Given the description of an element on the screen output the (x, y) to click on. 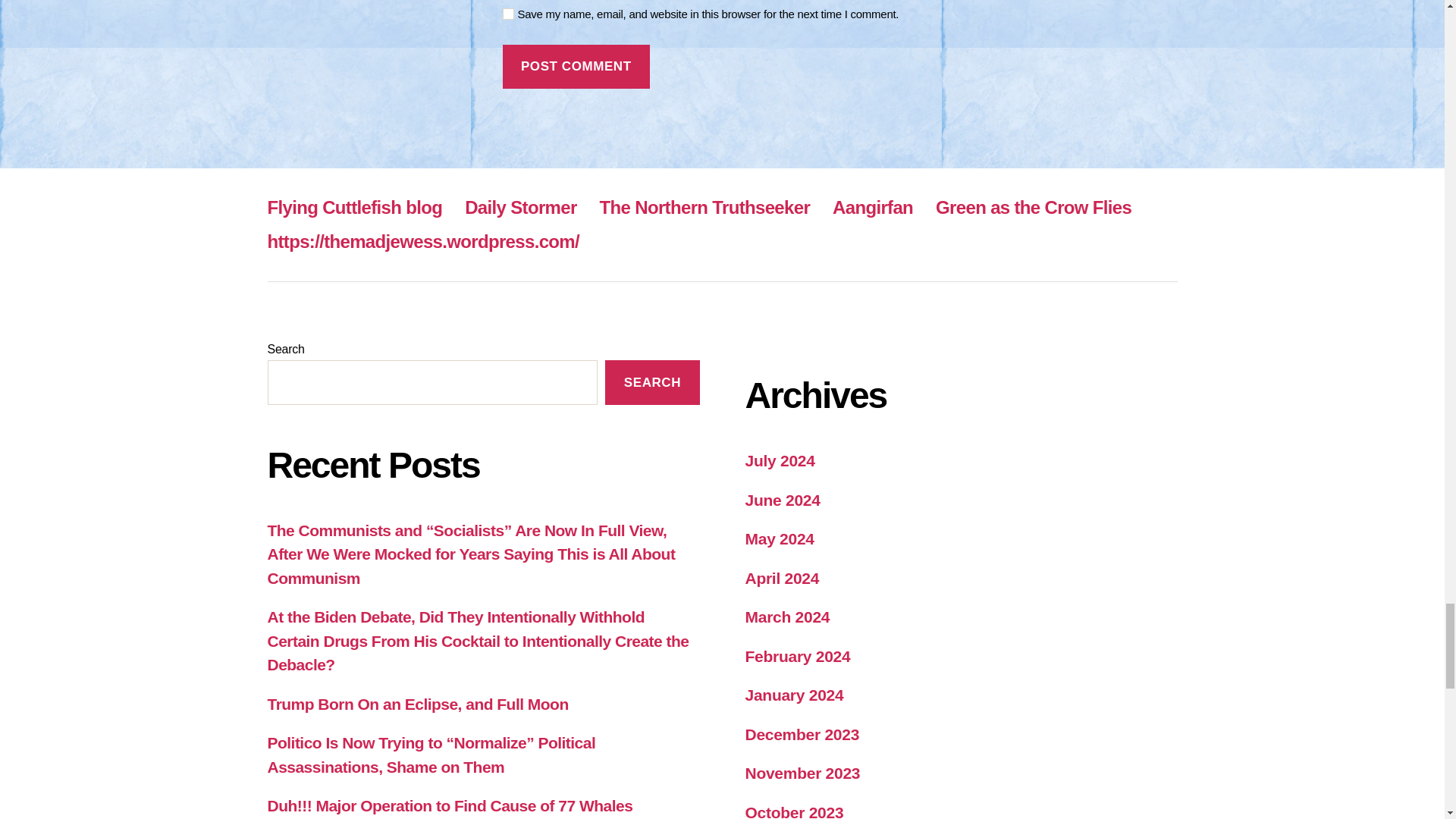
Flying Cuttlefish blog (354, 207)
Post Comment (575, 67)
The Northern Truthseeker (704, 207)
SEARCH (651, 382)
Green as the Crow Flies (1033, 207)
Post Comment (575, 67)
yes (507, 13)
Daily Stormer (520, 207)
Aangirfan (872, 207)
